Given the description of an element on the screen output the (x, y) to click on. 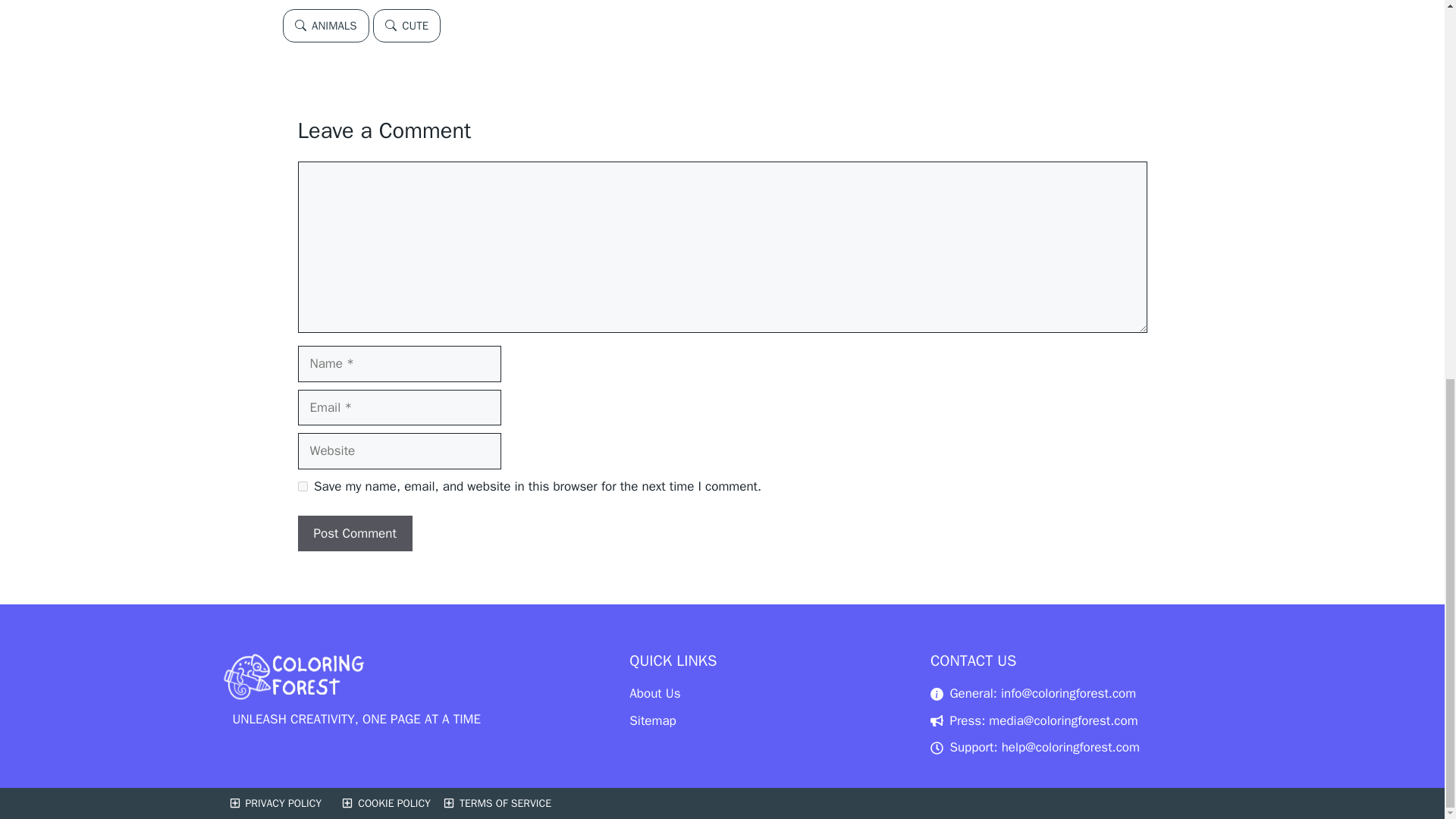
About Us (653, 693)
Post Comment (354, 533)
Sitemap (651, 720)
Post Comment (354, 533)
ANIMALS (325, 26)
yes (302, 486)
CUTE (406, 26)
